Given the description of an element on the screen output the (x, y) to click on. 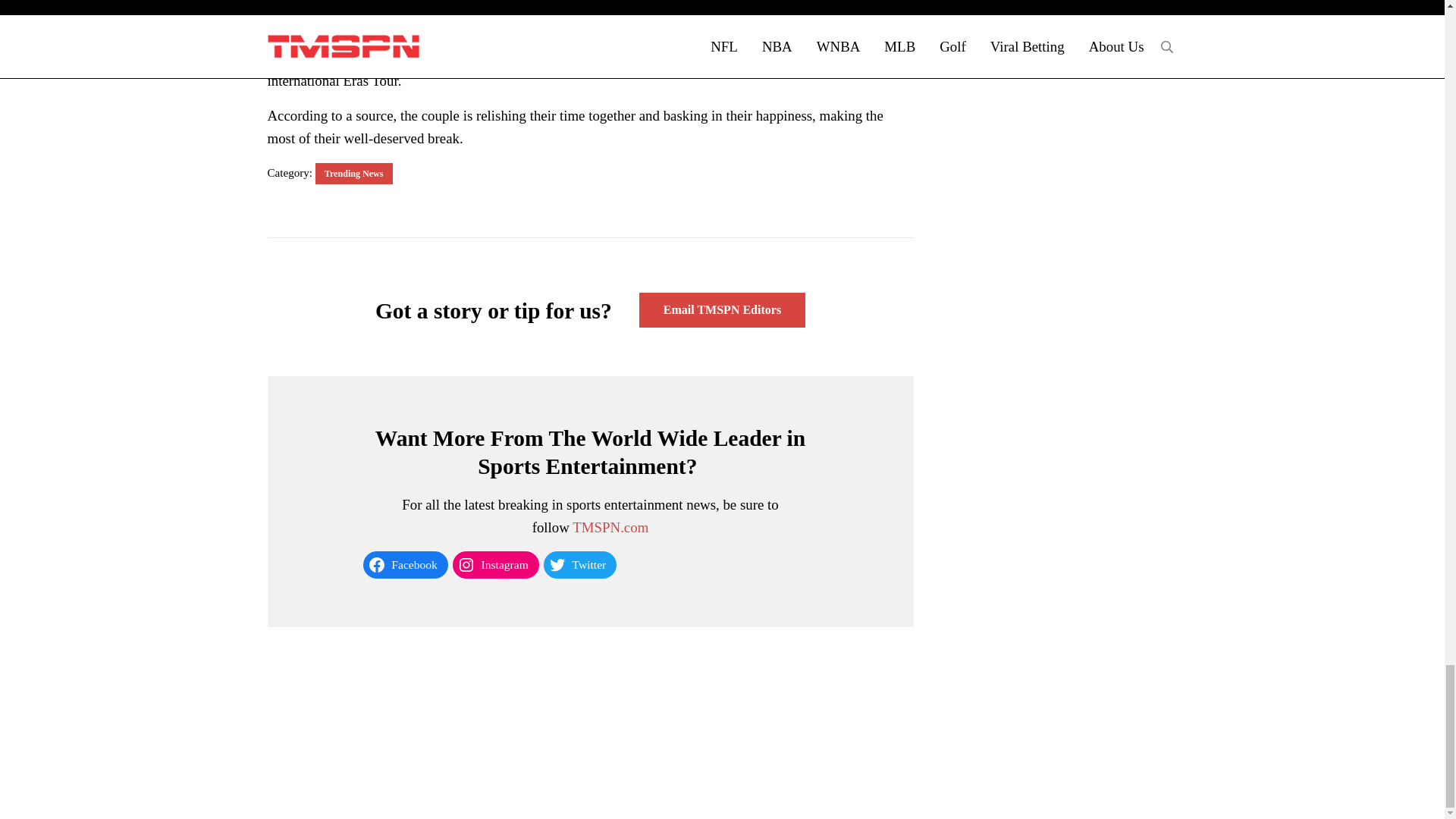
couple recently jetted off to the Bahamas (448, 34)
Facebook (404, 564)
Twitter (579, 564)
Email TMSPN Editors (722, 309)
Instagram (495, 564)
TMSPN.com (609, 527)
Trending News (354, 173)
